Given the description of an element on the screen output the (x, y) to click on. 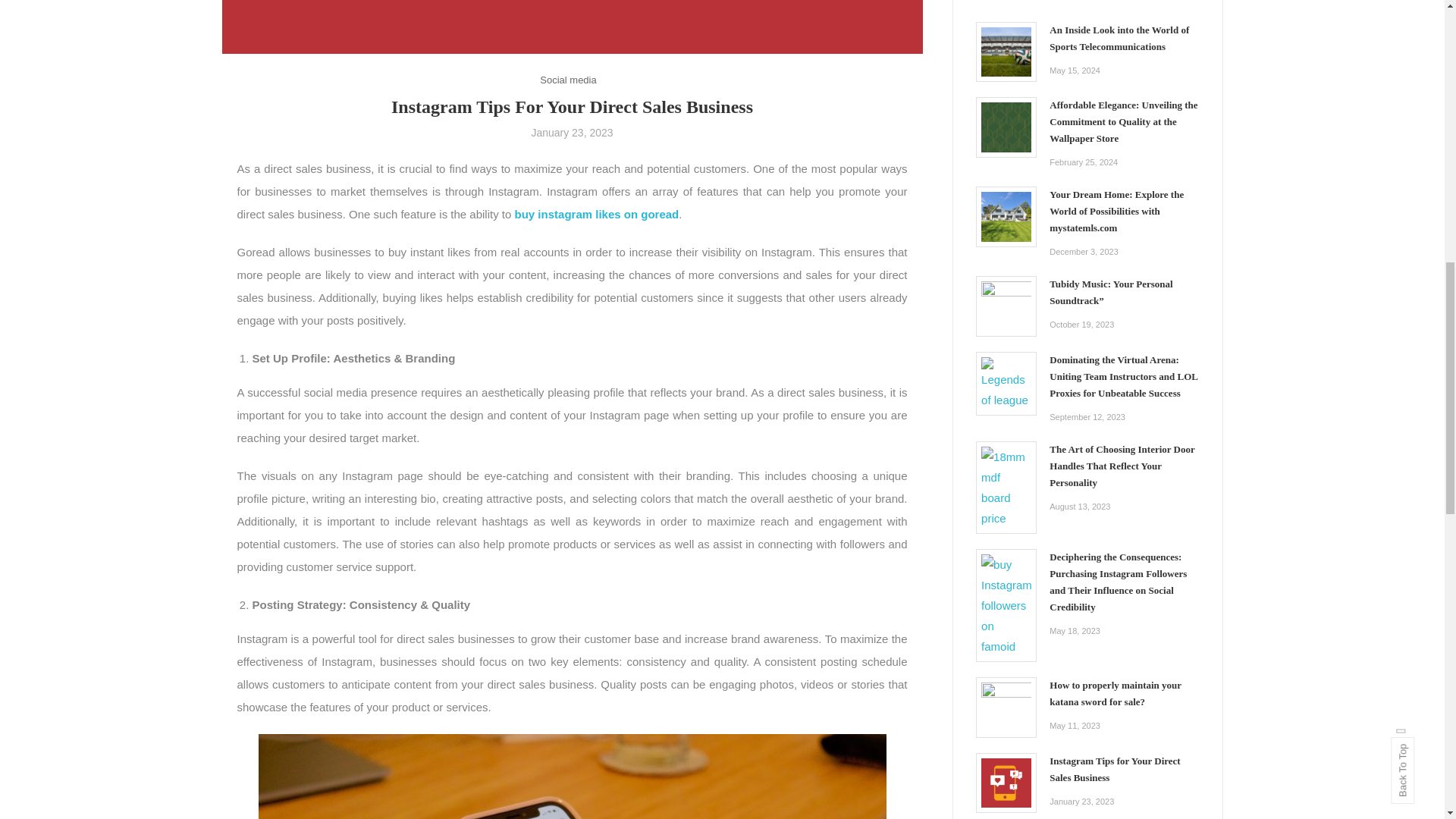
How to properly maintain your katana sword for sale? (1005, 707)
An Inside Look into the World of Sports Telecommunications (1005, 51)
Social media (567, 79)
May 15, 2024 (1074, 70)
An Inside Look into the World of Sports Telecommunications (1123, 38)
January 23, 2023 (571, 132)
buy instagram likes on goread (597, 214)
Instagram Tips for Your Direct Sales Business (1005, 782)
